Given the description of an element on the screen output the (x, y) to click on. 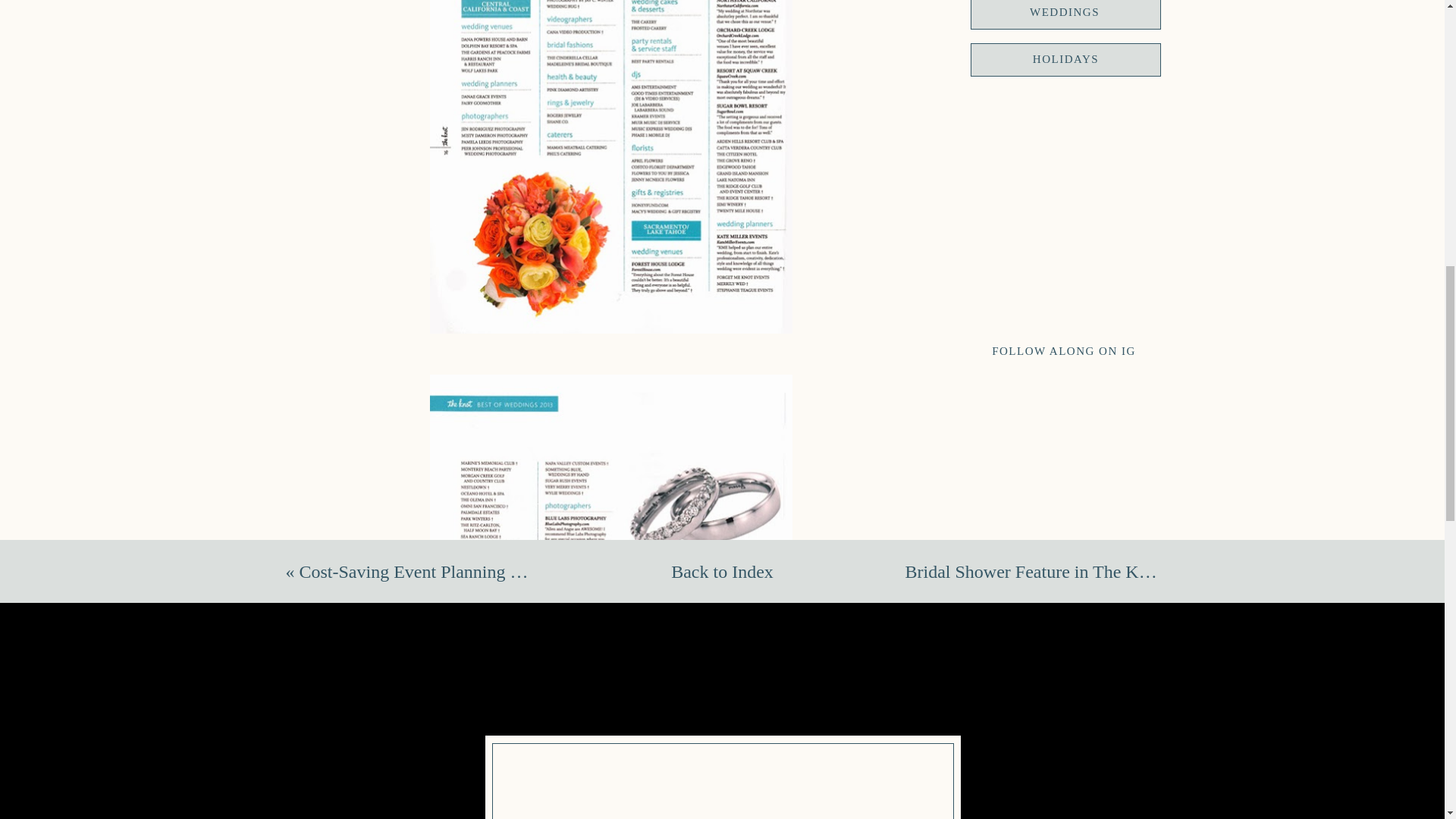
HOLIDAYS (1065, 59)
FOLLOW ALONG ON IG (1063, 351)
Back to Index (721, 572)
Bridal Shower Feature in The Knot (1033, 571)
WEDDINGS (1064, 14)
Cost-Saving Event Planning Feature on All You (472, 571)
